Given the description of an element on the screen output the (x, y) to click on. 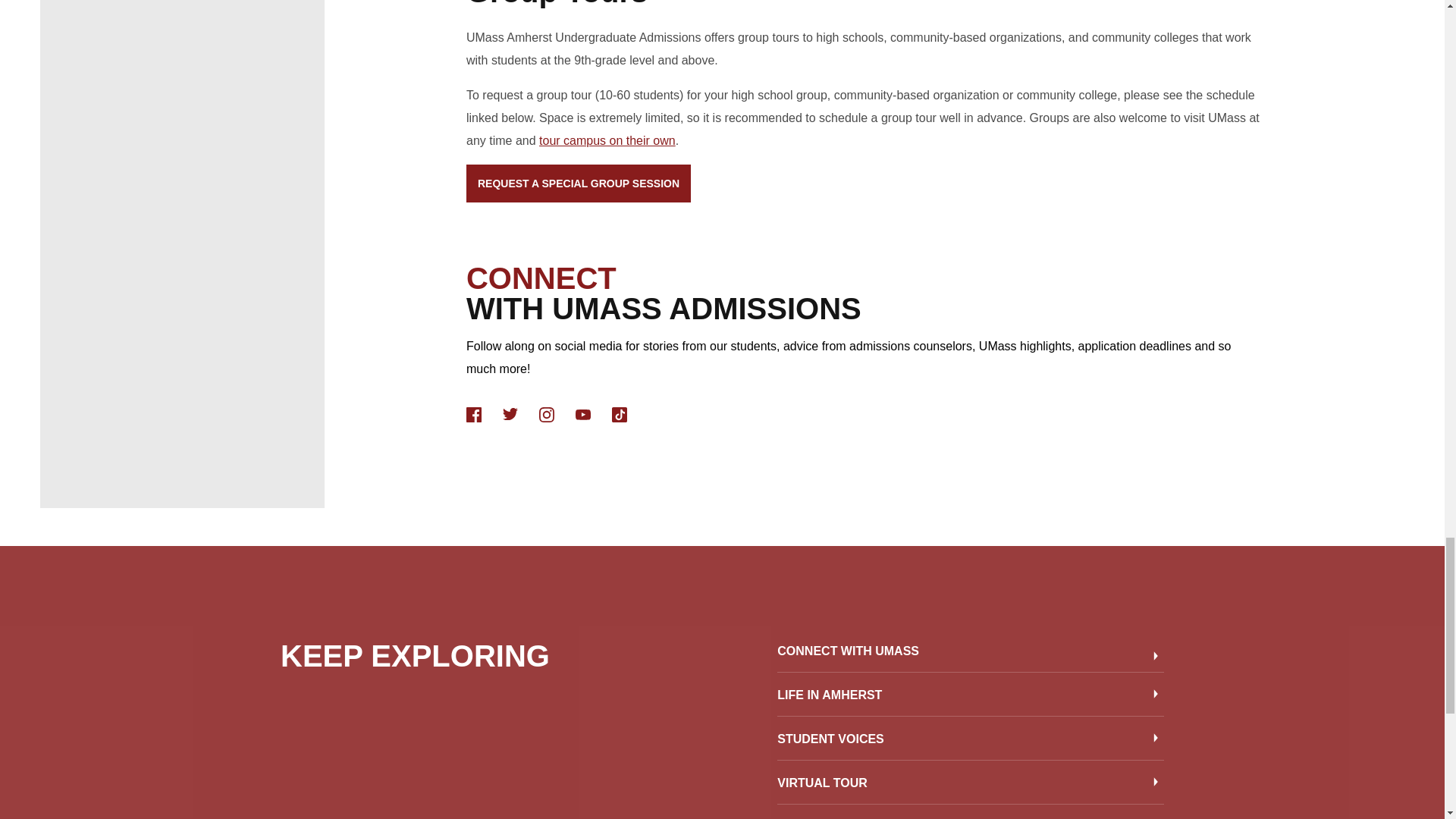
TikTok (619, 415)
Twitter (510, 413)
Instagram (546, 414)
Facebook (473, 414)
YouTube (583, 414)
